Given the description of an element on the screen output the (x, y) to click on. 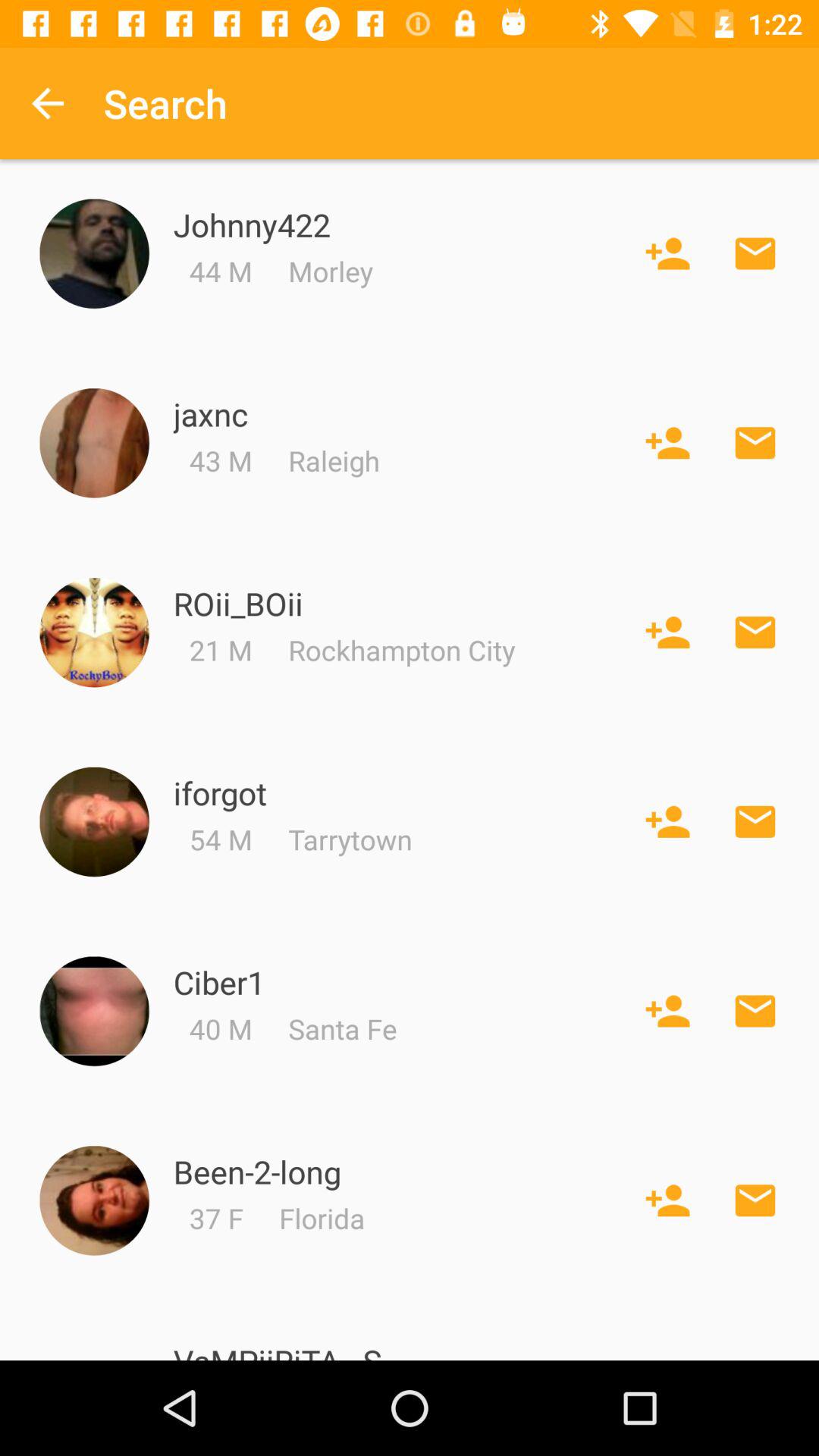
view profile (94, 1200)
